Given the description of an element on the screen output the (x, y) to click on. 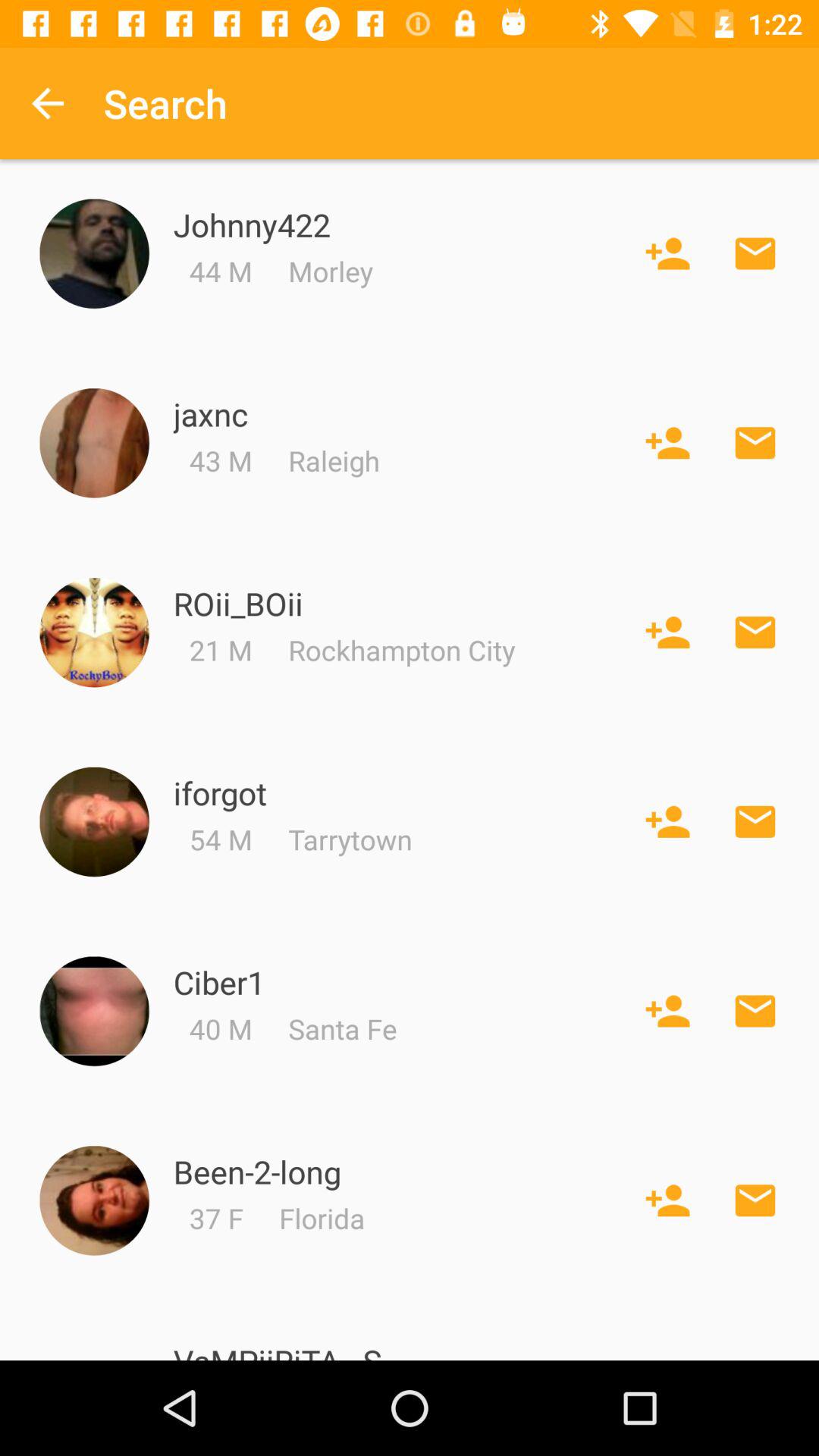
view profile (94, 1200)
